Given the description of an element on the screen output the (x, y) to click on. 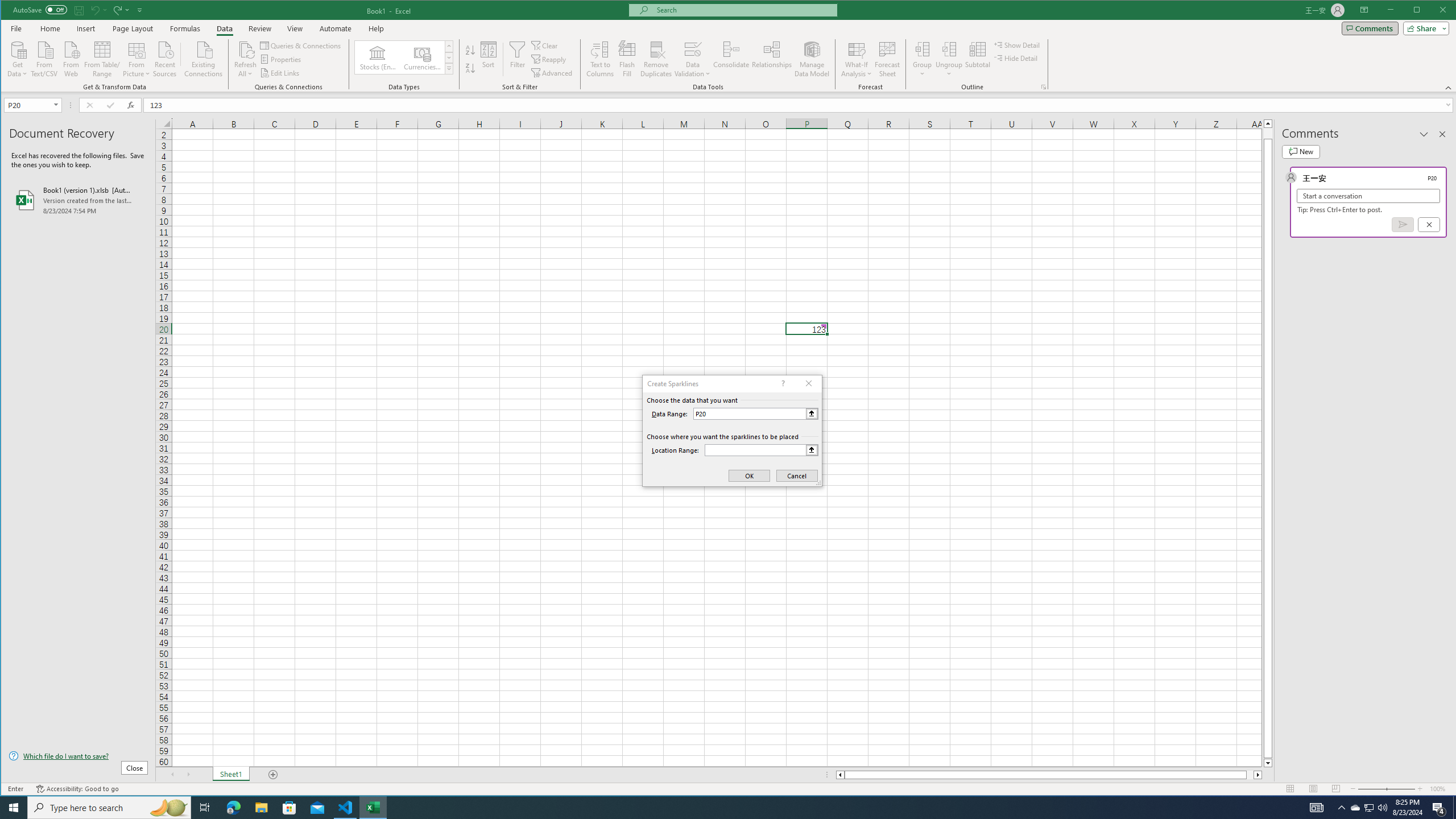
Ungroup... (948, 48)
Open (56, 105)
Close pane (1441, 133)
Filter (517, 59)
Help (376, 28)
Relationships (772, 59)
Class: NetUIImage (448, 68)
Row Down (448, 57)
Customize Quick Access Toolbar (140, 9)
From Text/CSV (44, 57)
Undo (94, 9)
AutoSave (39, 9)
Zoom (1386, 788)
Zoom In (1420, 788)
